Given the description of an element on the screen output the (x, y) to click on. 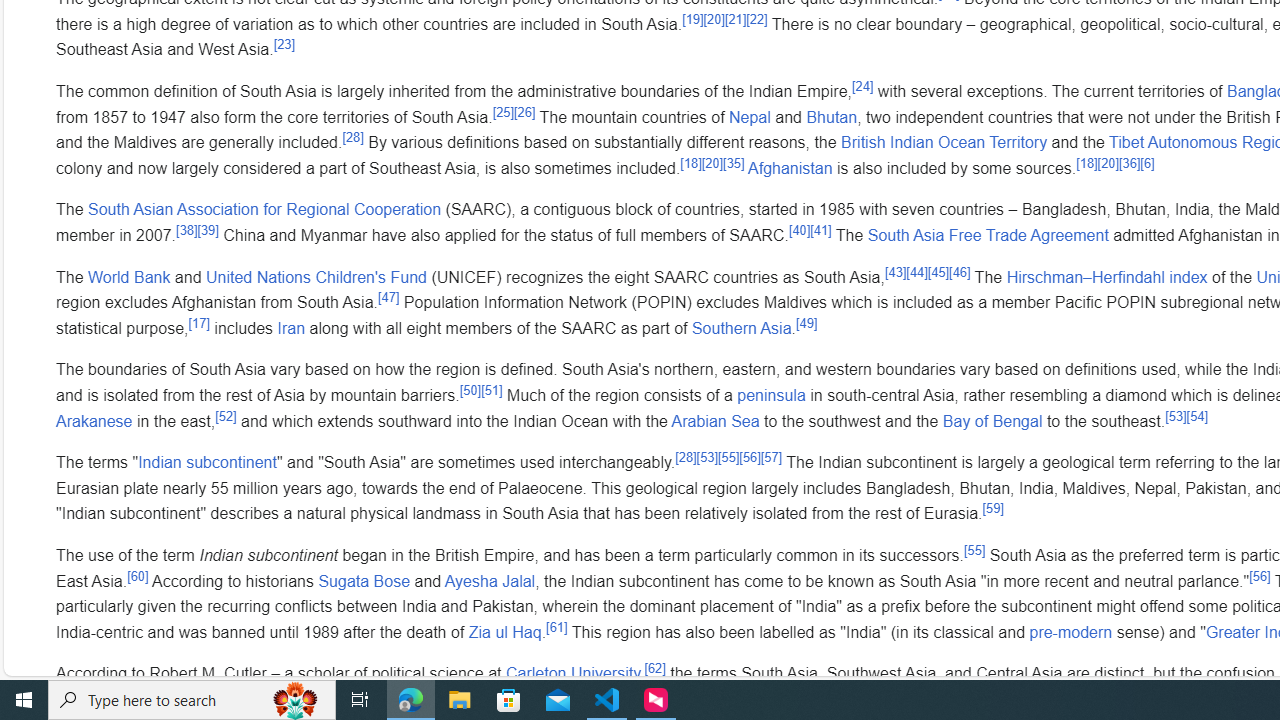
[35] (733, 162)
[53] (707, 457)
[45] (937, 272)
Sugata Bose (363, 580)
[19] (693, 18)
United Nations Children's Fund (316, 276)
[41] (821, 229)
Zia ul Haq (504, 631)
[25] (502, 111)
[39] (207, 229)
peninsula (771, 394)
[54] (1197, 416)
[18] (1087, 162)
[6] (1147, 162)
Ayesha Jalal (490, 580)
